Given the description of an element on the screen output the (x, y) to click on. 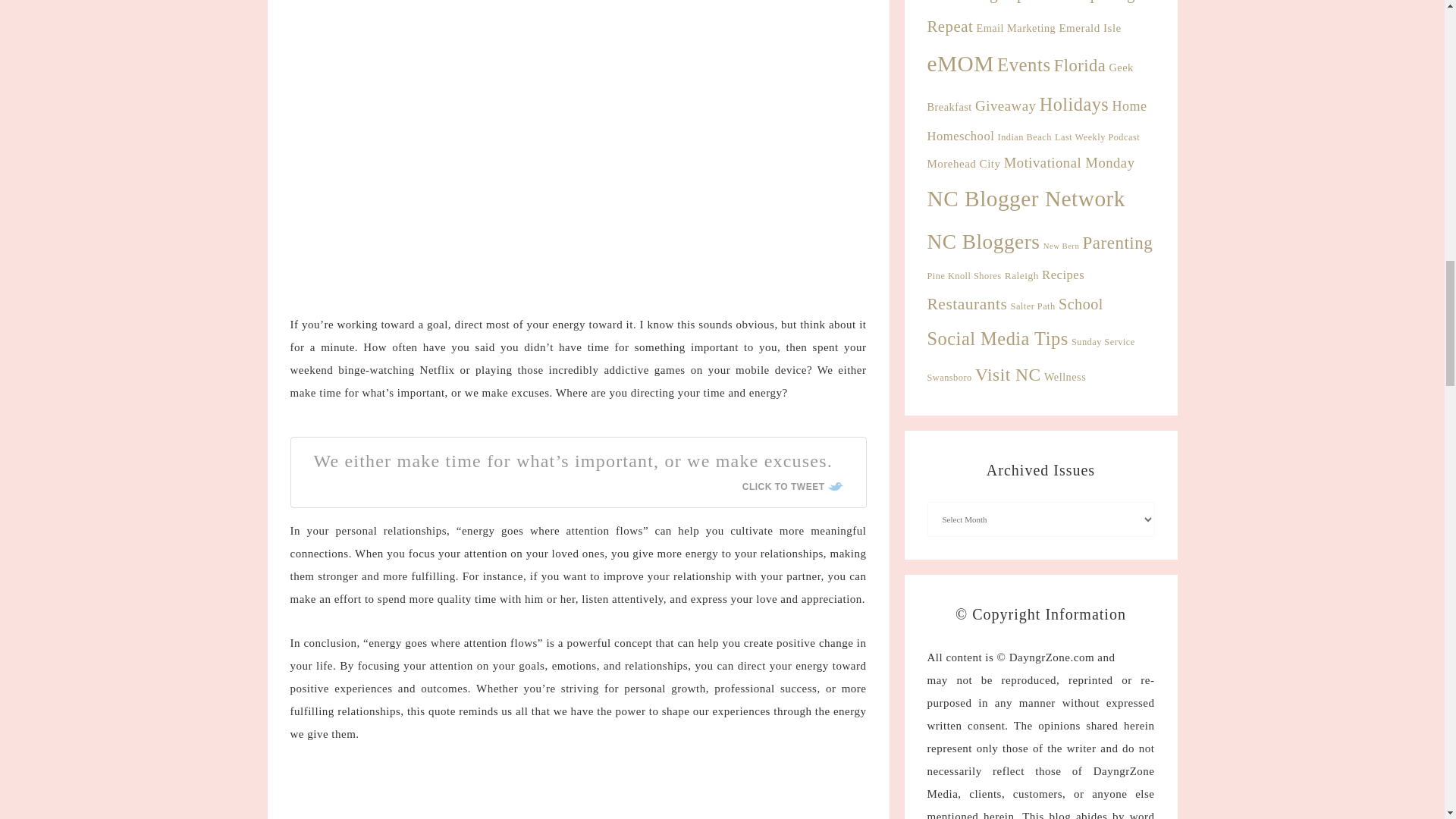
CLICK TO TWEET (792, 486)
